Given the description of an element on the screen output the (x, y) to click on. 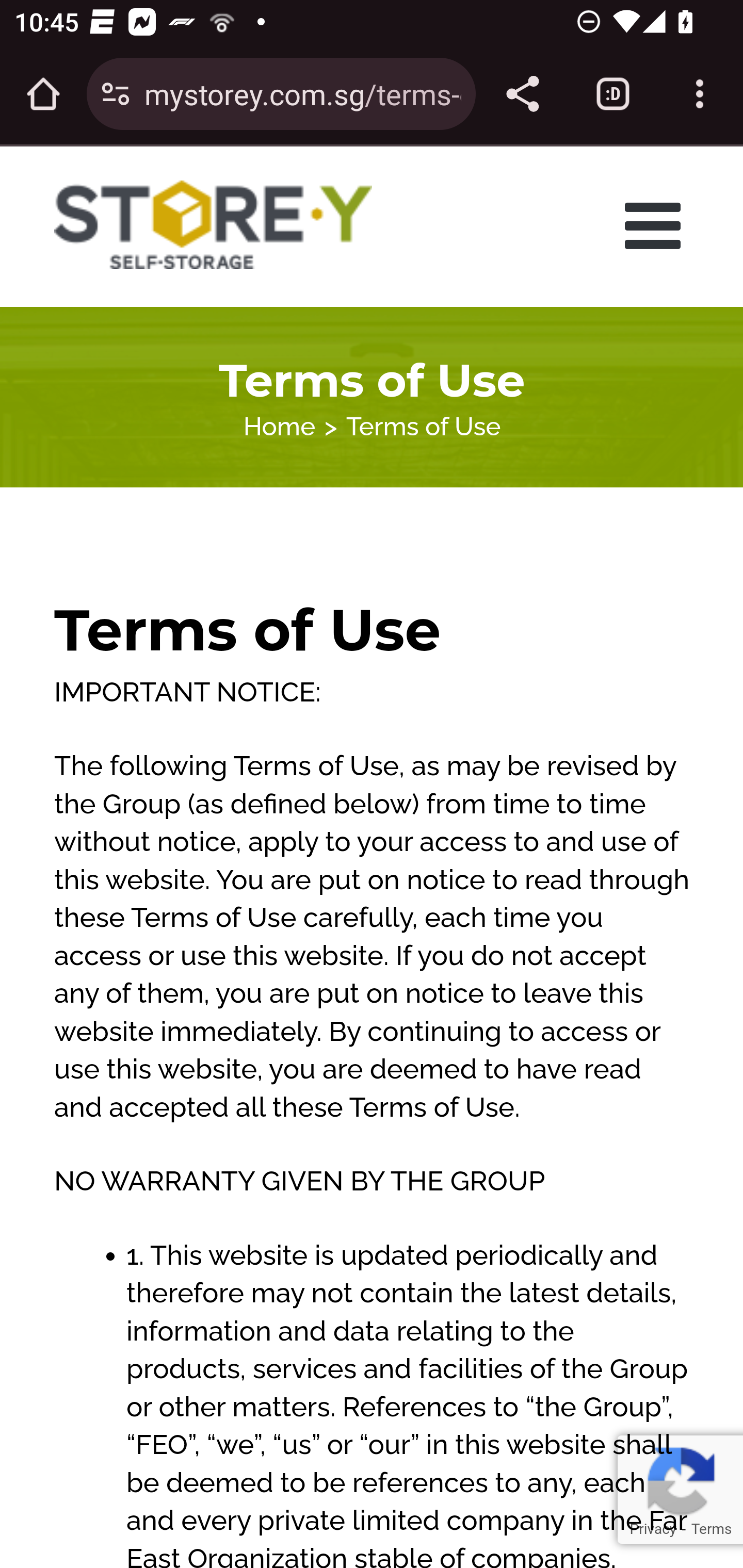
Open the home page (43, 93)
Connection is secure (115, 93)
Share (522, 93)
Switch or close tabs (612, 93)
Customize and control Google Chrome (699, 93)
mystorey.com.sg/terms-of-use/ (302, 92)
Store-Y Logo (213, 225)
Toggle mobile menu  (657, 225)
Home (278, 426)
